Given the description of an element on the screen output the (x, y) to click on. 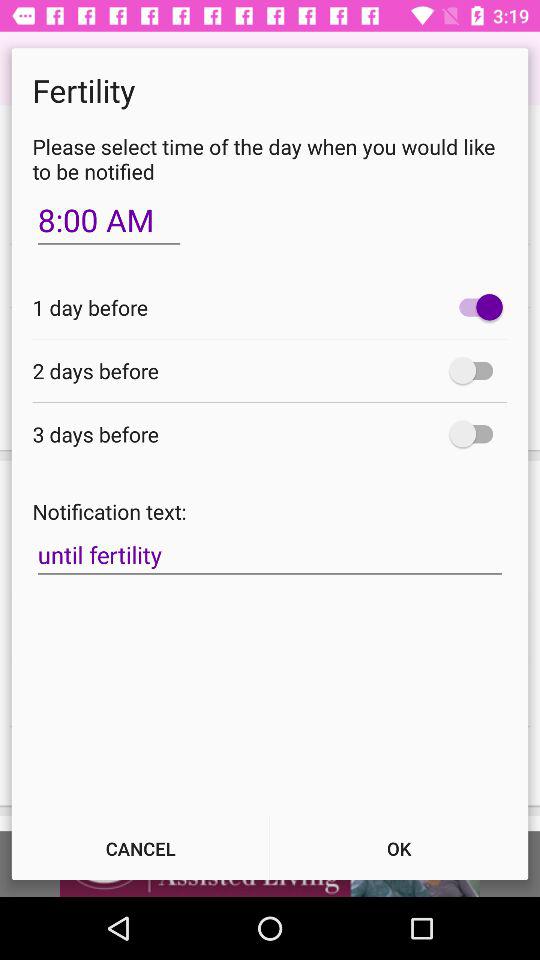
click item next to the 1 day before item (476, 307)
